Given the description of an element on the screen output the (x, y) to click on. 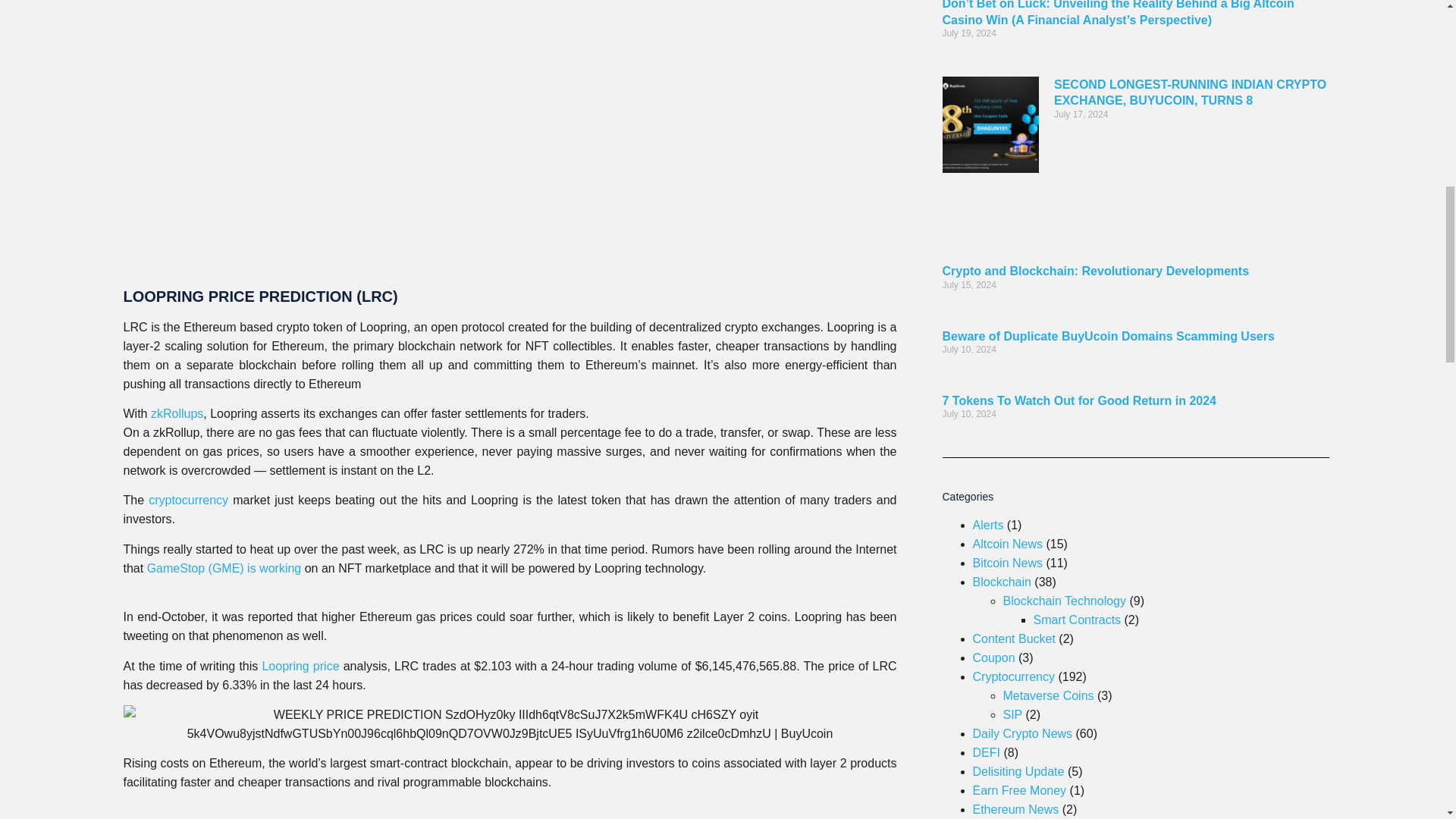
zkRollups (177, 413)
7 Tokens To Watch Out for Good Return in 2024 (1078, 400)
Blockchain (1001, 581)
Metaverse Coins (1048, 695)
Content Bucket (1013, 638)
Loopring price (300, 666)
Beware of Duplicate BuyUcoin Domains Scamming Users (1108, 336)
Crypto and Blockchain: Revolutionary Developments (1095, 270)
SIP (1012, 714)
